Given the description of an element on the screen output the (x, y) to click on. 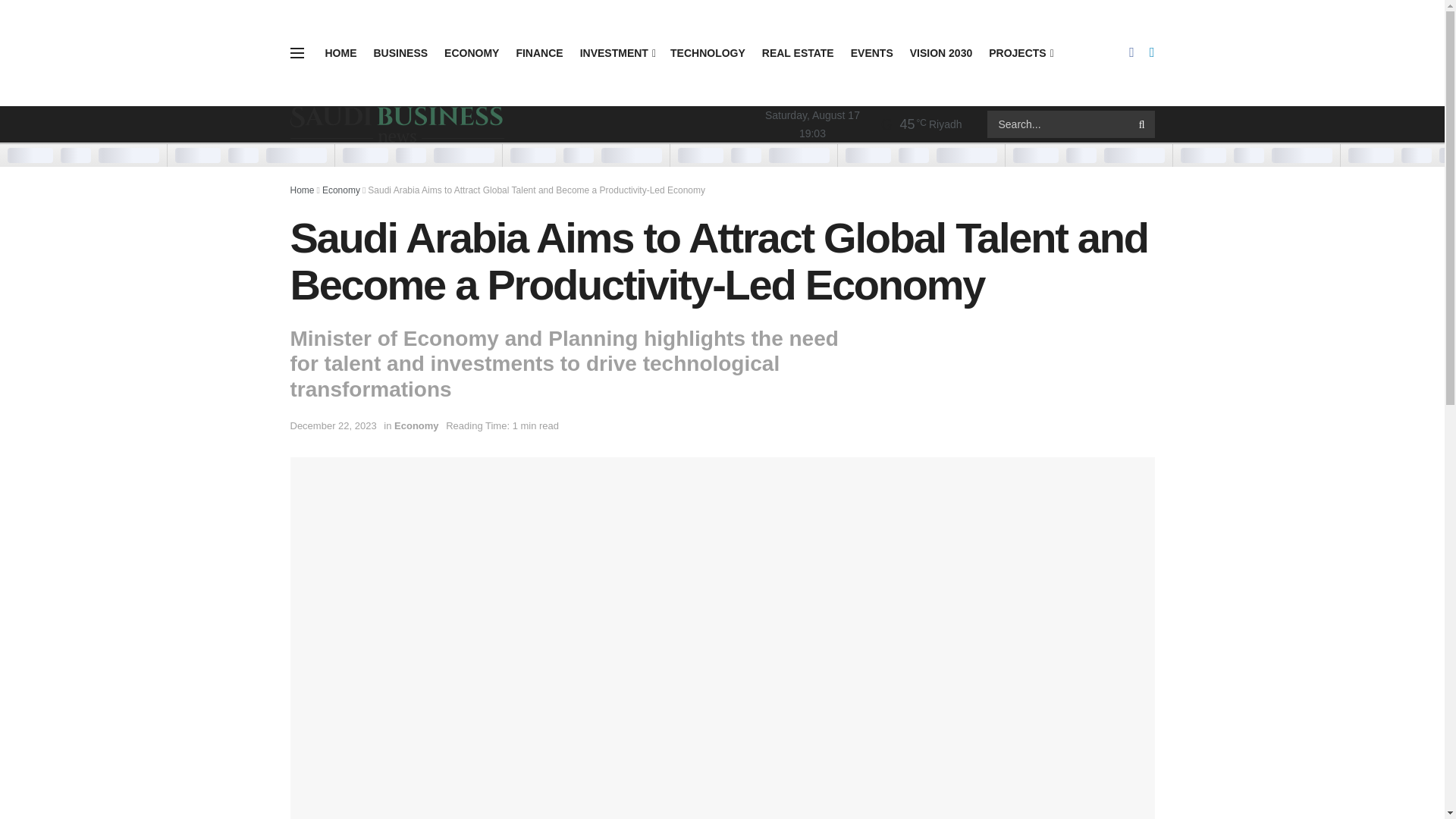
TECHNOLOGY (707, 53)
INVESTMENT (616, 53)
VISION 2030 (941, 53)
ECONOMY (471, 53)
PROJECTS (1019, 53)
FINANCE (538, 53)
REAL ESTATE (797, 53)
BUSINESS (400, 53)
EVENTS (871, 53)
